Given the description of an element on the screen output the (x, y) to click on. 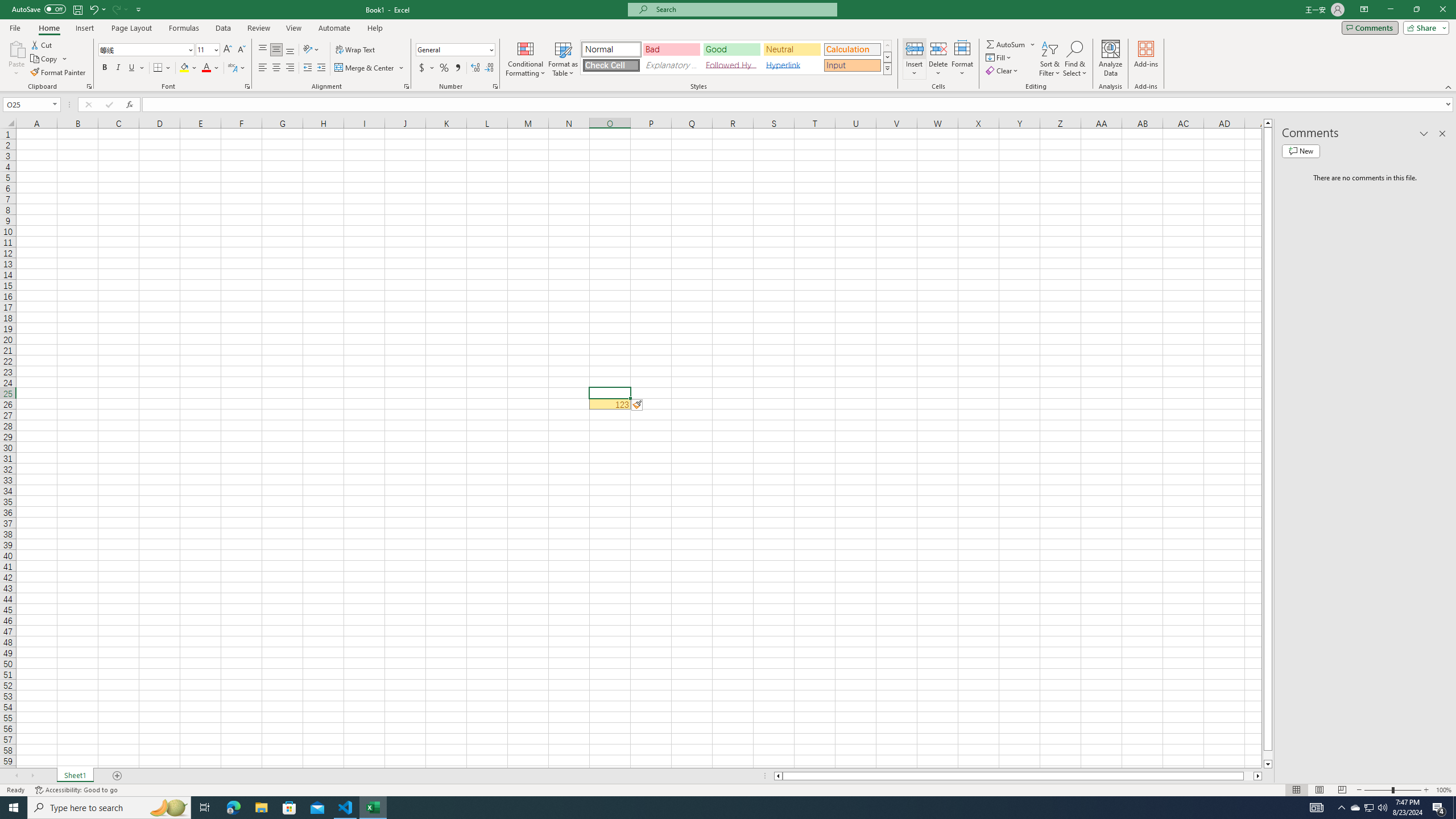
Format Cell Alignment (405, 85)
Underline (136, 67)
Good (731, 49)
Share (1423, 27)
Number Format (451, 49)
Accounting Number Format (426, 67)
Sort & Filter (1049, 58)
Minimize (1390, 9)
Wrap Text (355, 49)
Column right (1258, 775)
Microsoft search (742, 9)
Font Size (204, 49)
Normal (611, 49)
Insert (914, 58)
